Given the description of an element on the screen output the (x, y) to click on. 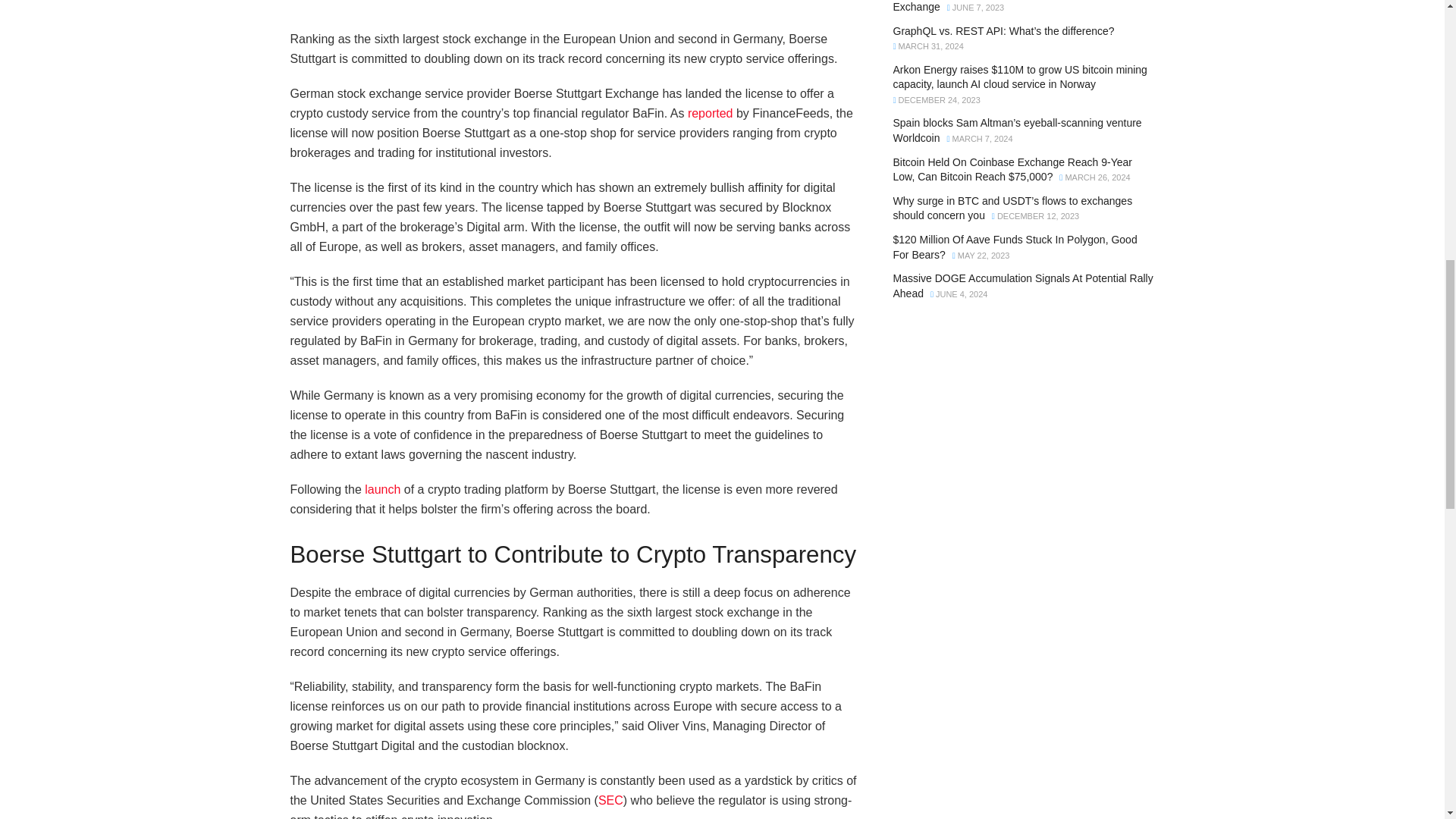
SEC (610, 799)
reported (710, 113)
launch (382, 489)
